Given the description of an element on the screen output the (x, y) to click on. 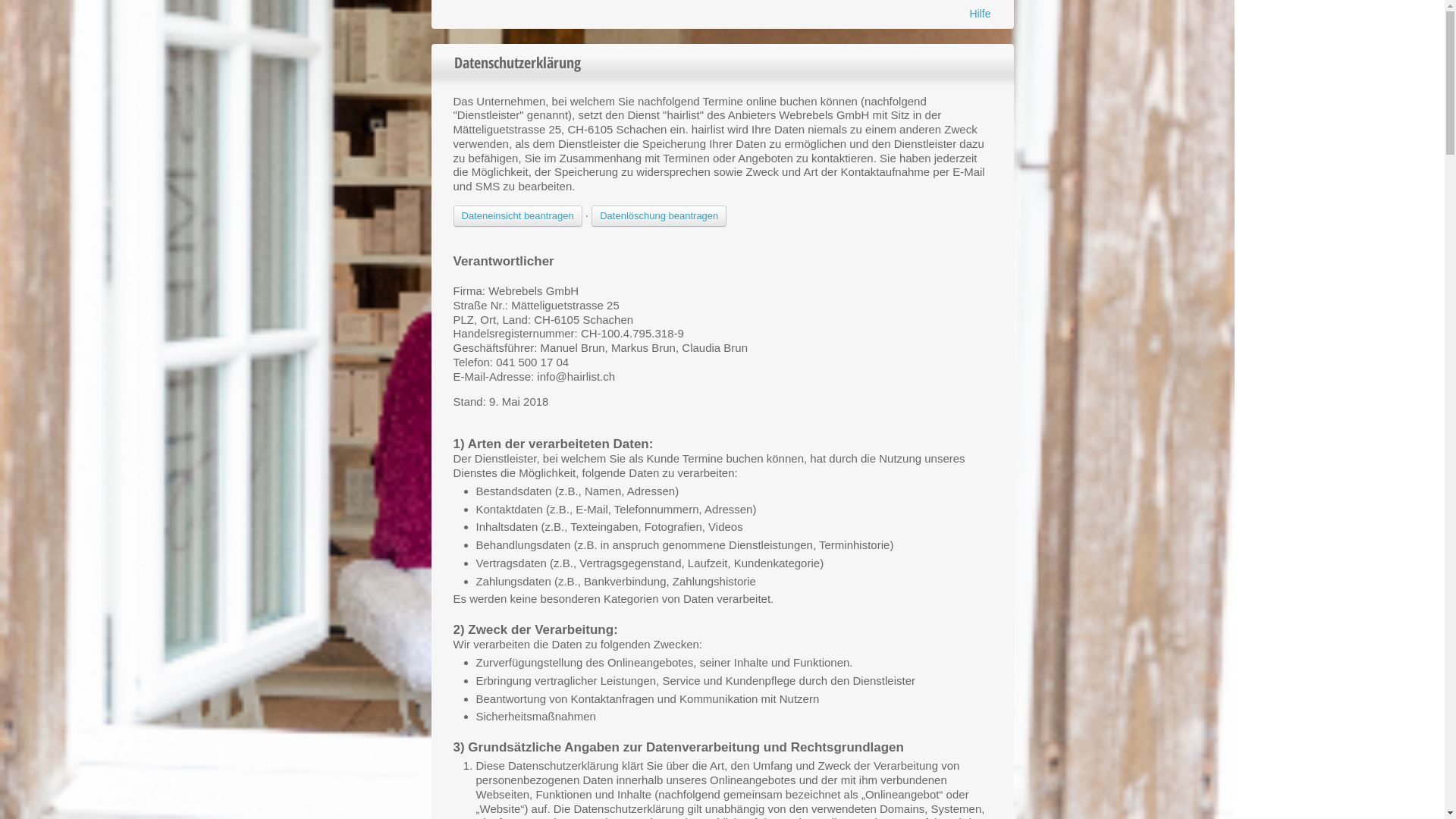
Hilfe Element type: text (979, 13)
Dateneinsicht beantragen Element type: text (517, 215)
